Given the description of an element on the screen output the (x, y) to click on. 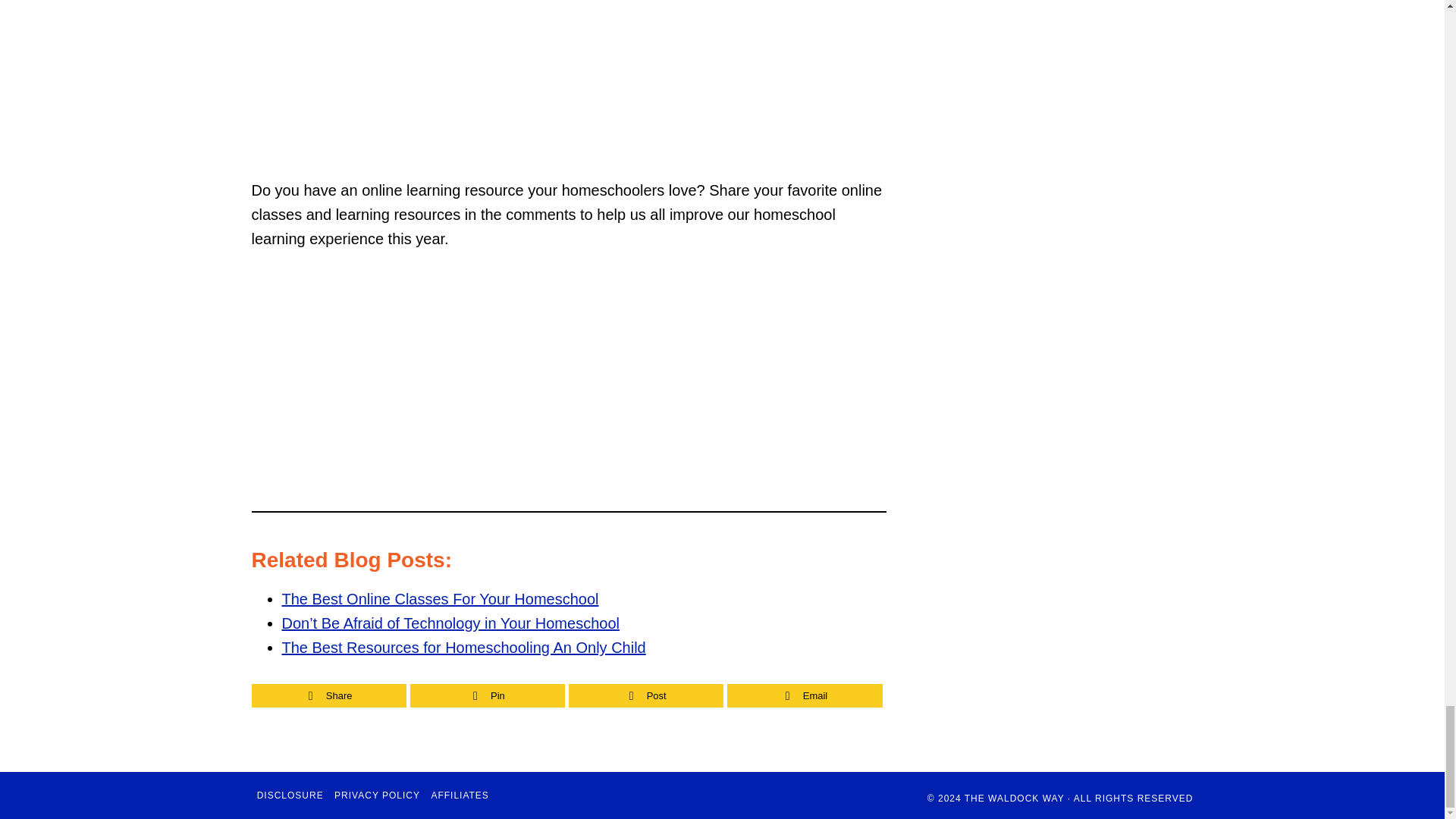
The Best Resources for Homeschooling An Only Child (464, 647)
Share (327, 695)
The Best Online Classes For Your Homeschool (440, 598)
